Given the description of an element on the screen output the (x, y) to click on. 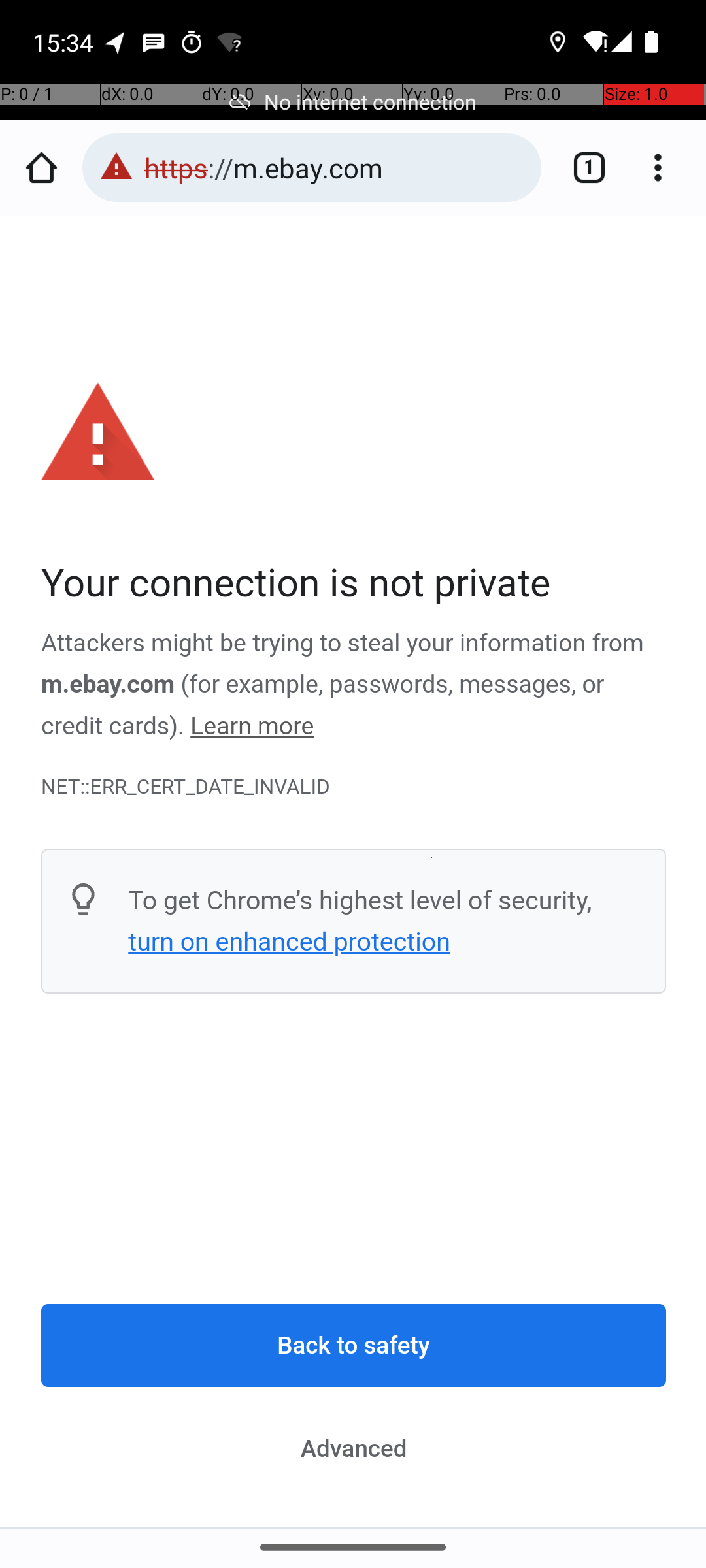
https://m.ebay.com Element type: android.widget.EditText (335, 167)
m.ebay.com Element type: android.widget.TextView (108, 684)
